Given the description of an element on the screen output the (x, y) to click on. 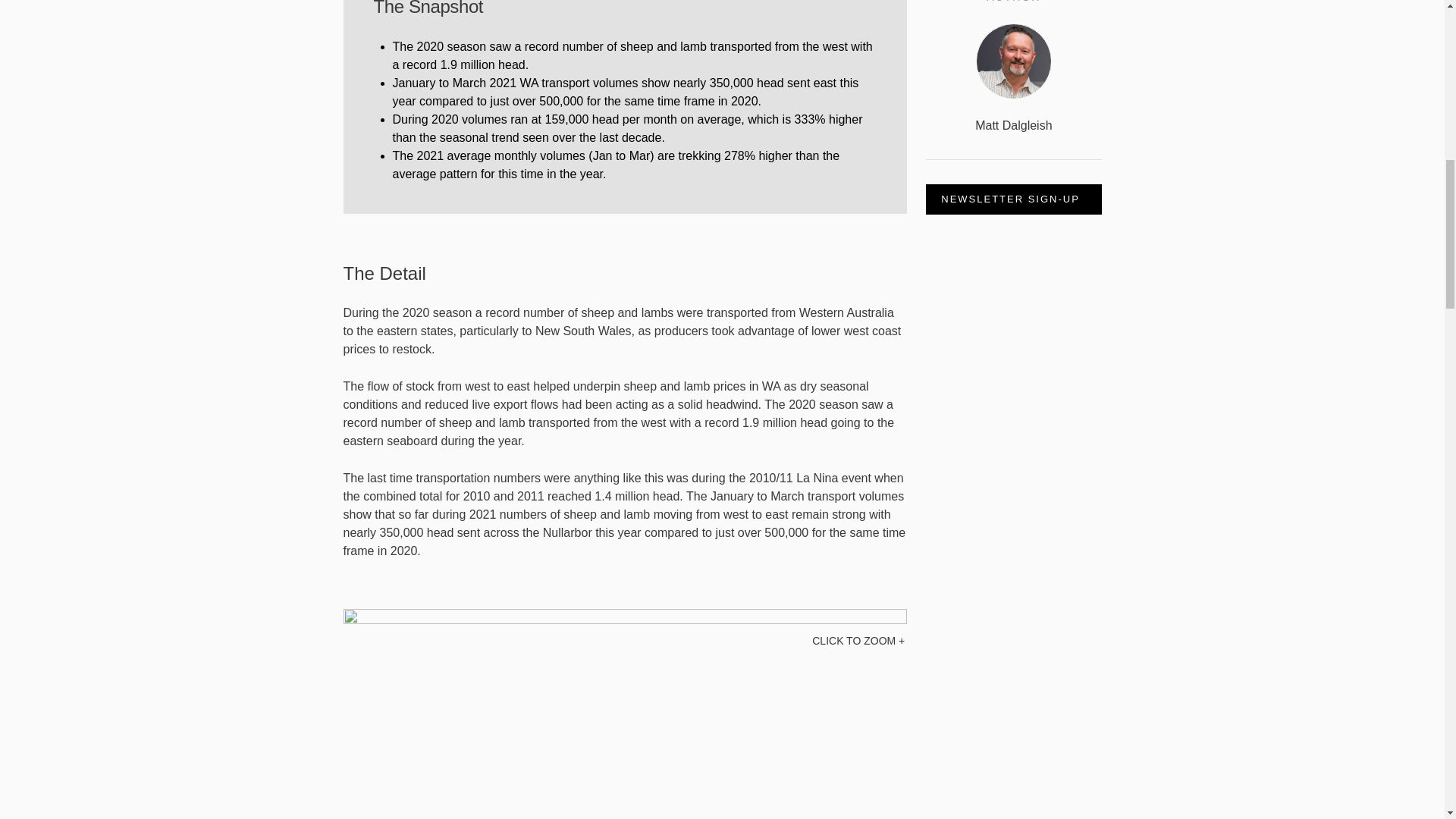
Matt Dalgleish profile (1013, 91)
